Given the description of an element on the screen output the (x, y) to click on. 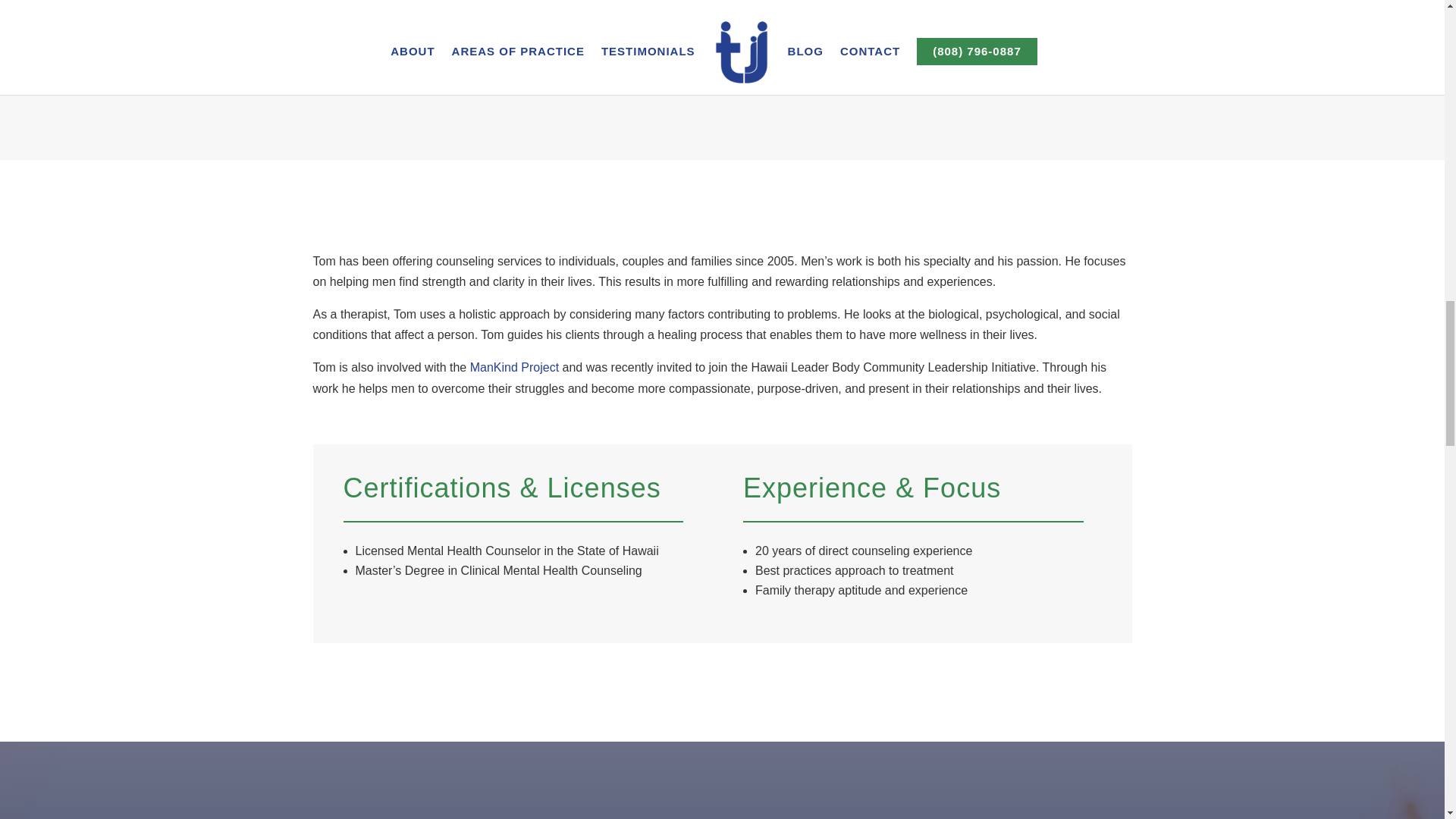
ManKind Project (514, 367)
GET STARTED (647, 11)
